Given the description of an element on the screen output the (x, y) to click on. 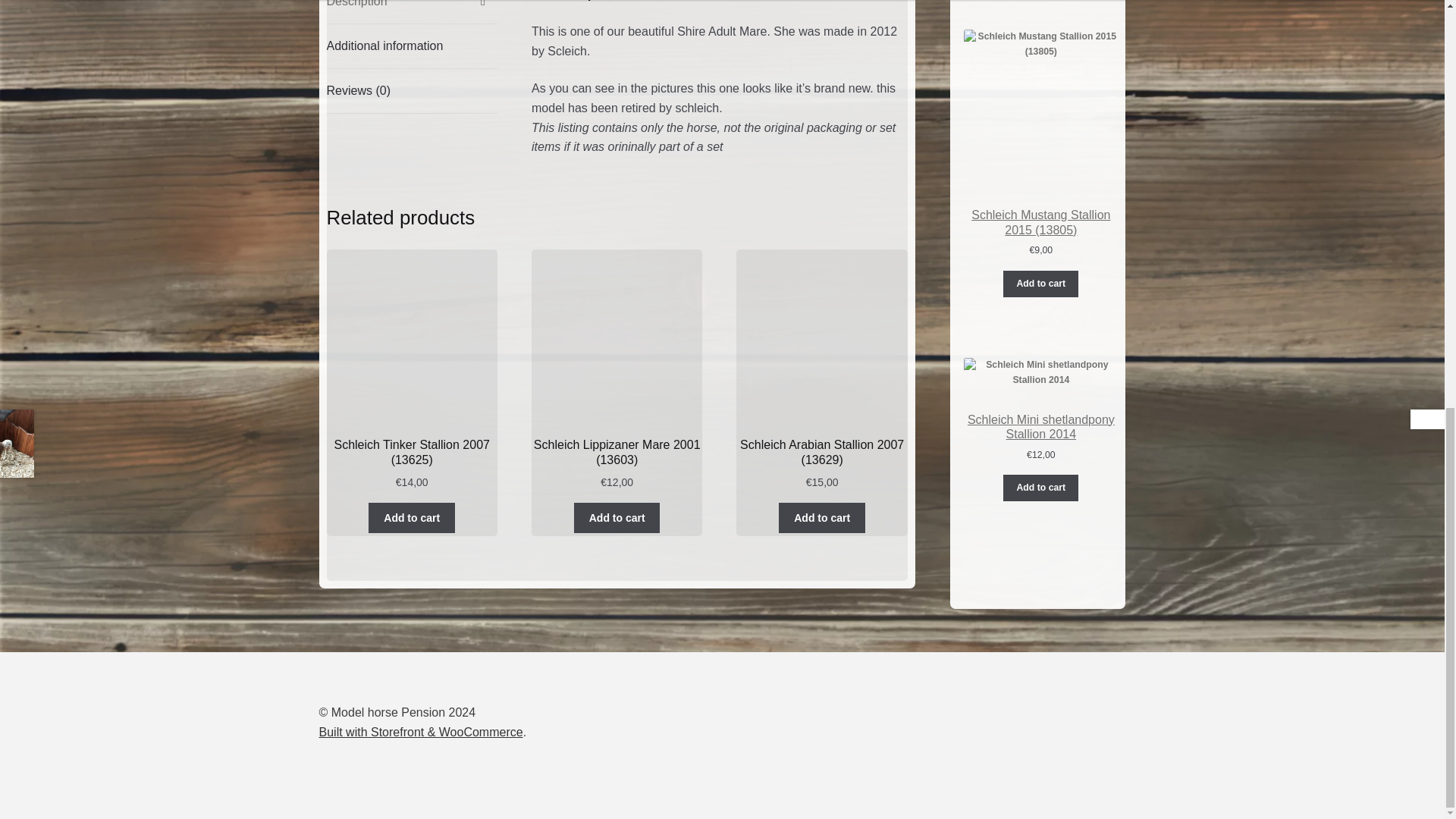
Description (411, 11)
Add to cart (411, 517)
Additional information (411, 45)
Add to cart (617, 517)
WooCommerce - The Best eCommerce Platform for WordPress (420, 731)
